Given the description of an element on the screen output the (x, y) to click on. 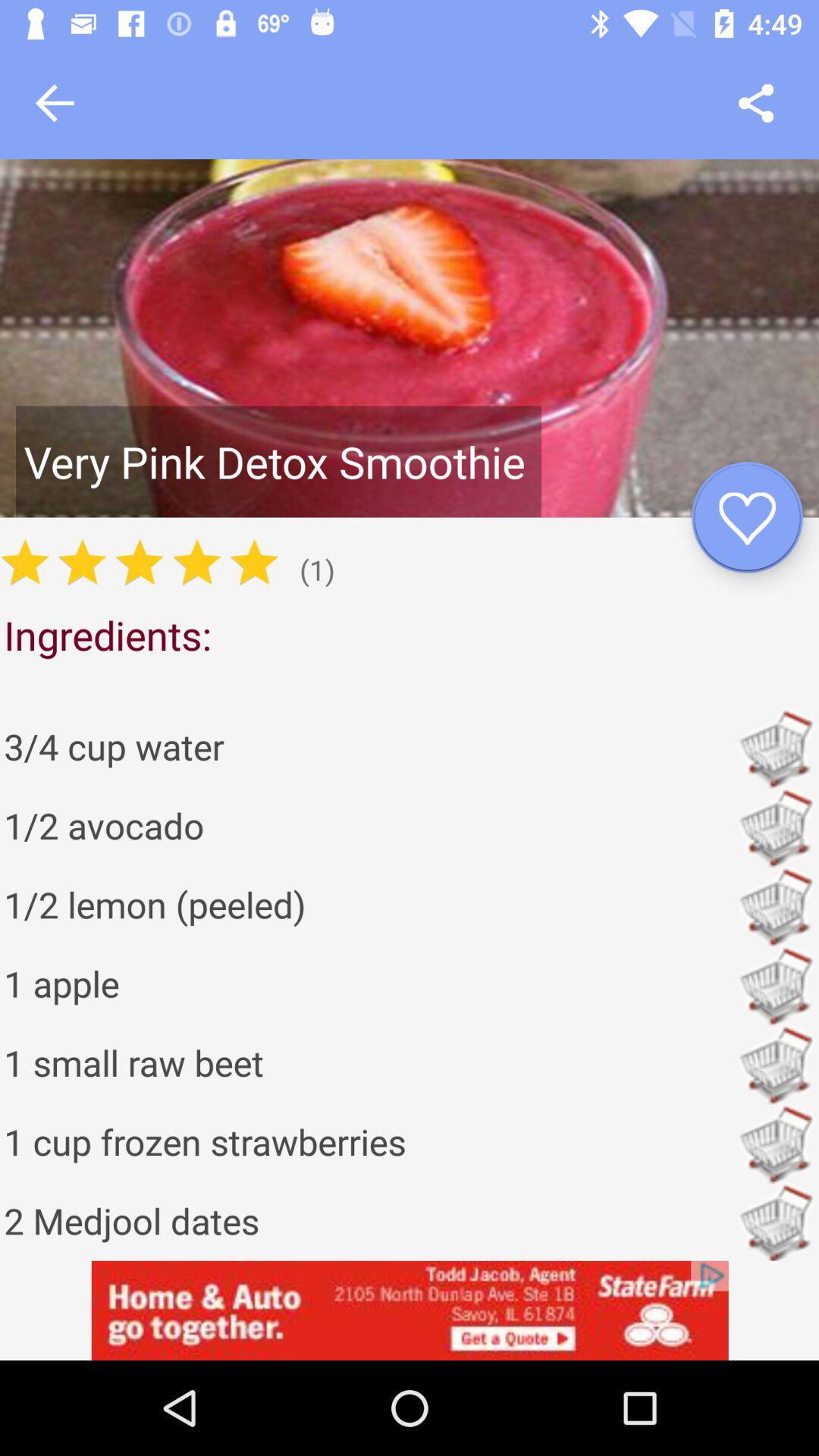
love the product (747, 517)
